Given the description of an element on the screen output the (x, y) to click on. 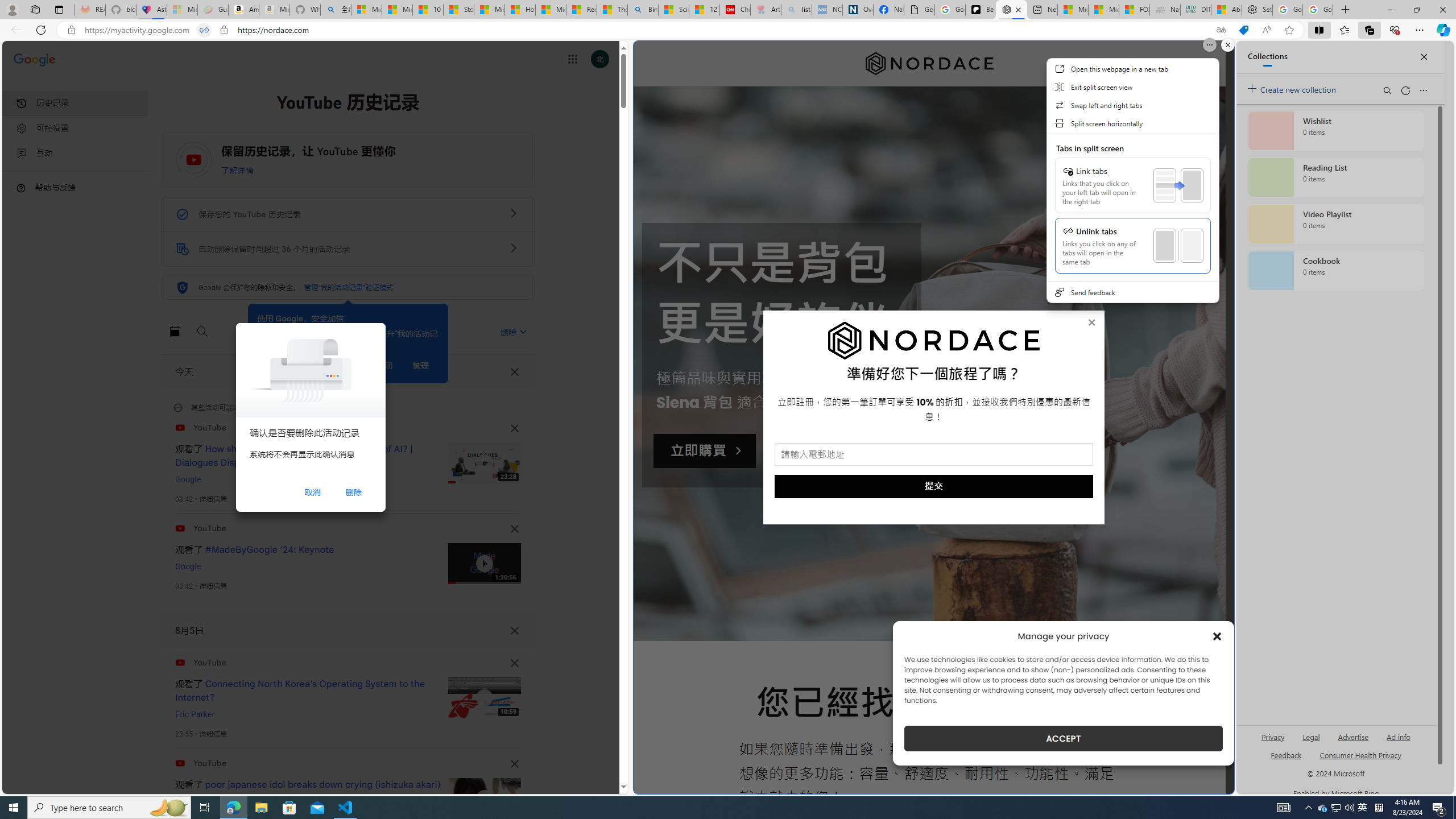
How I Got Rid of Microsoft Edge's Unnecessary Features (519, 9)
AutomationID: field_5_1 (933, 455)
DITOGAMES AG Imprint (1194, 9)
AutomationID: sb_feedback (1286, 754)
